Given the description of an element on the screen output the (x, y) to click on. 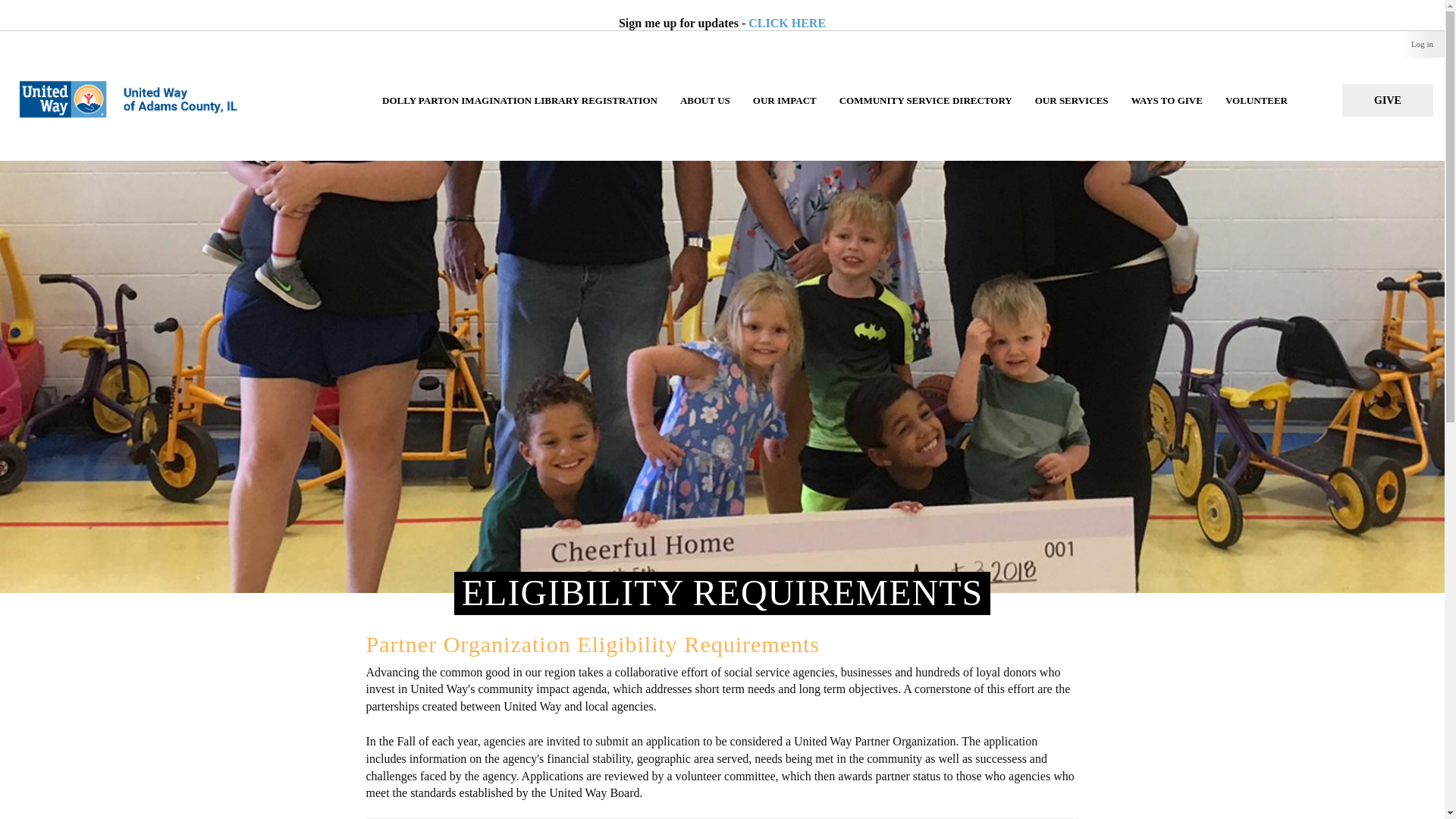
Home (139, 83)
Here's different ways to give to us (1165, 115)
CLICK HERE (786, 22)
OUR SERVICES (1071, 115)
About United Way of Adams County (704, 115)
GIVE (1387, 100)
COMMUNITY SERVICE DIRECTORY (925, 115)
Leading the Way (1387, 100)
ABOUT US (704, 115)
